Given the description of an element on the screen output the (x, y) to click on. 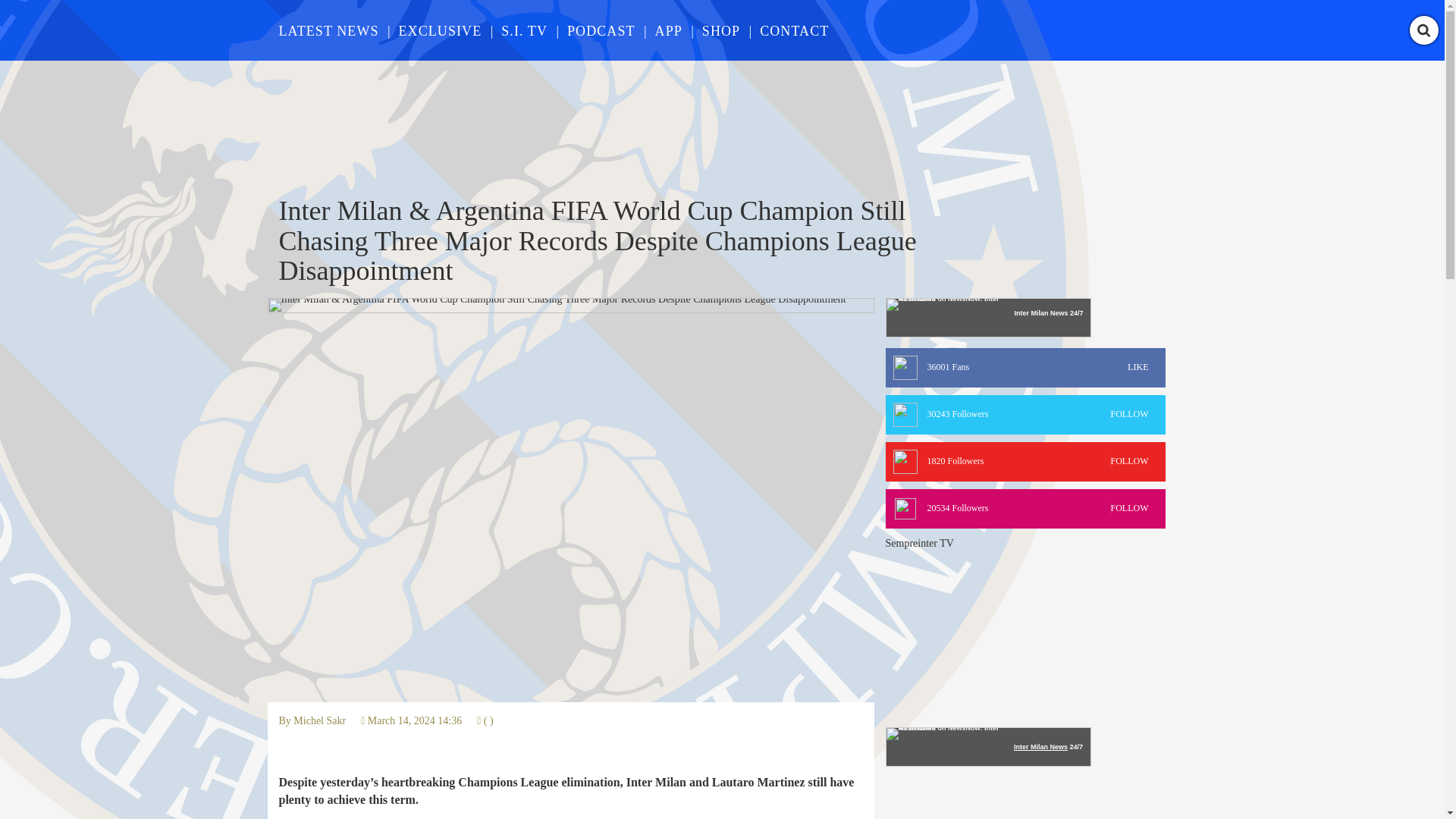
EXCLUSIVE (1025, 461)
PODCAST (1025, 414)
Click here for more Inter Milan News from NewsNow (439, 30)
Inter Milan News (600, 30)
Michel Sakr (987, 317)
Inter Milan News (1040, 312)
APP (320, 720)
Click here for more Inter Milan News from NewsNow (1040, 746)
